Given the description of an element on the screen output the (x, y) to click on. 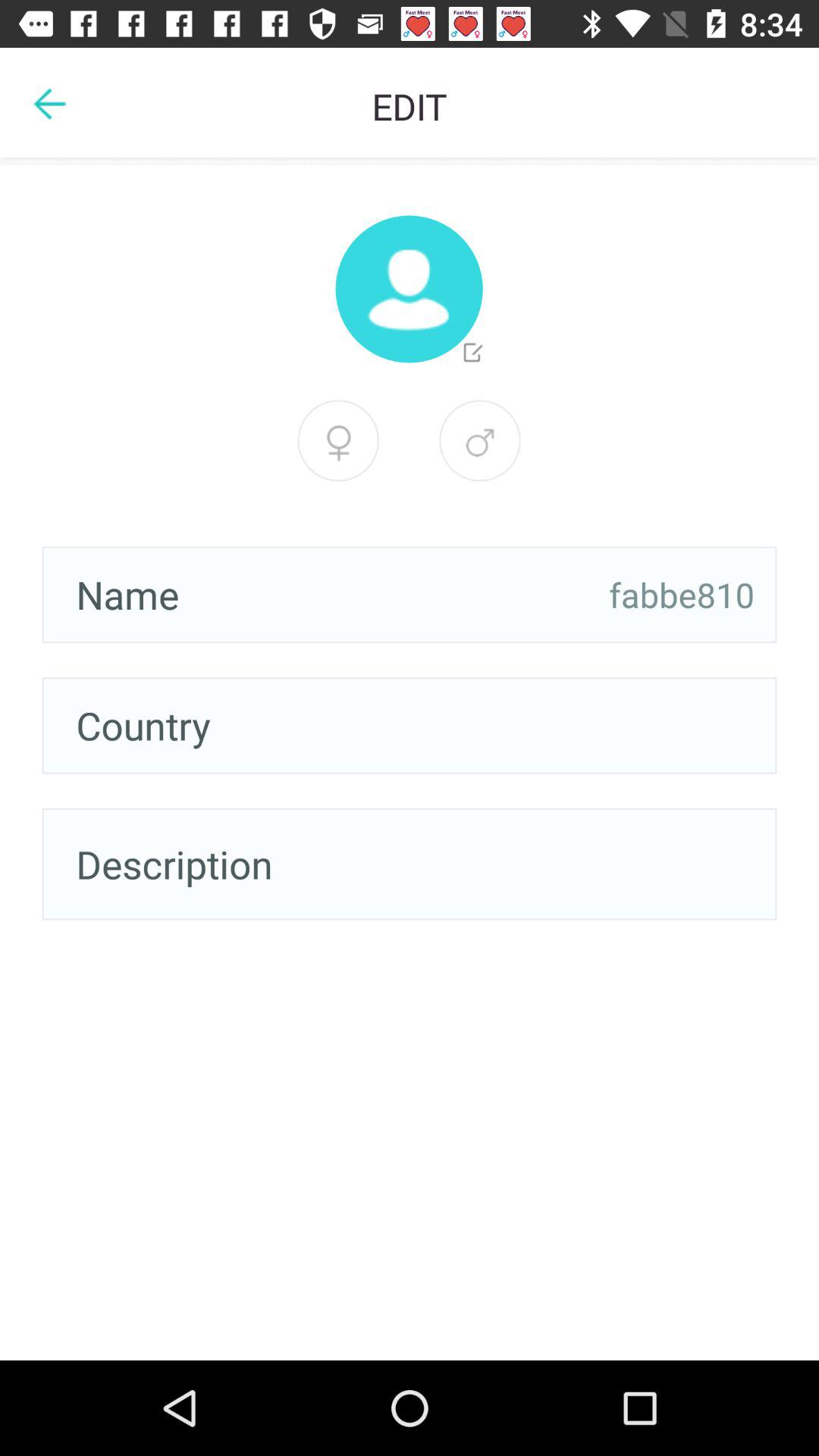
choose male (338, 440)
